Given the description of an element on the screen output the (x, y) to click on. 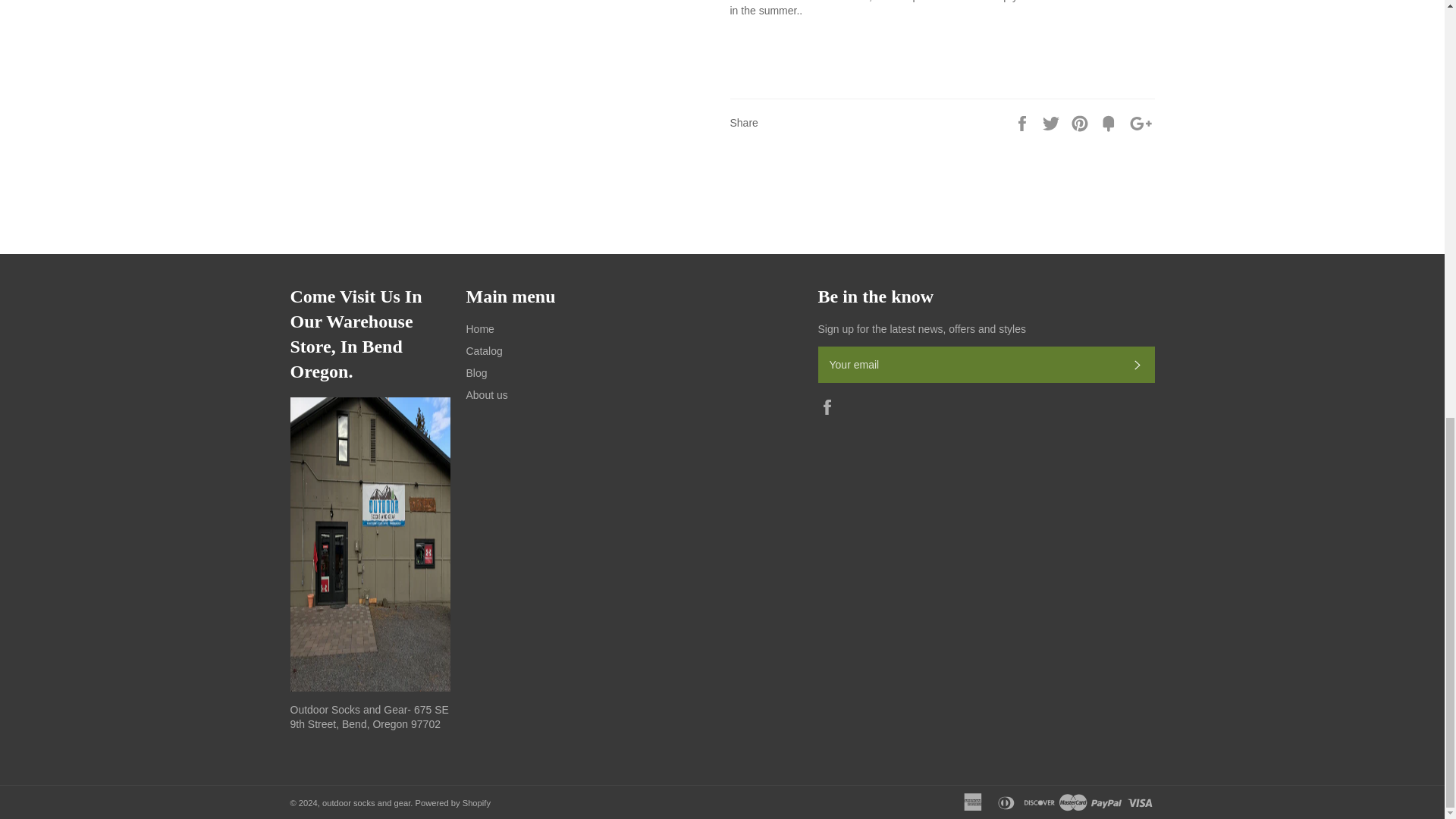
Facebook (829, 406)
outdoor socks and gear (365, 802)
Fancy (1110, 121)
Tweet (1052, 121)
Home (479, 328)
Pin it (1081, 121)
SUBSCRIBE (1136, 364)
Share (1023, 121)
About us (485, 395)
Catalog (483, 350)
Blog (475, 372)
outdoor socks and gear on Facebook (829, 406)
